Given the description of an element on the screen output the (x, y) to click on. 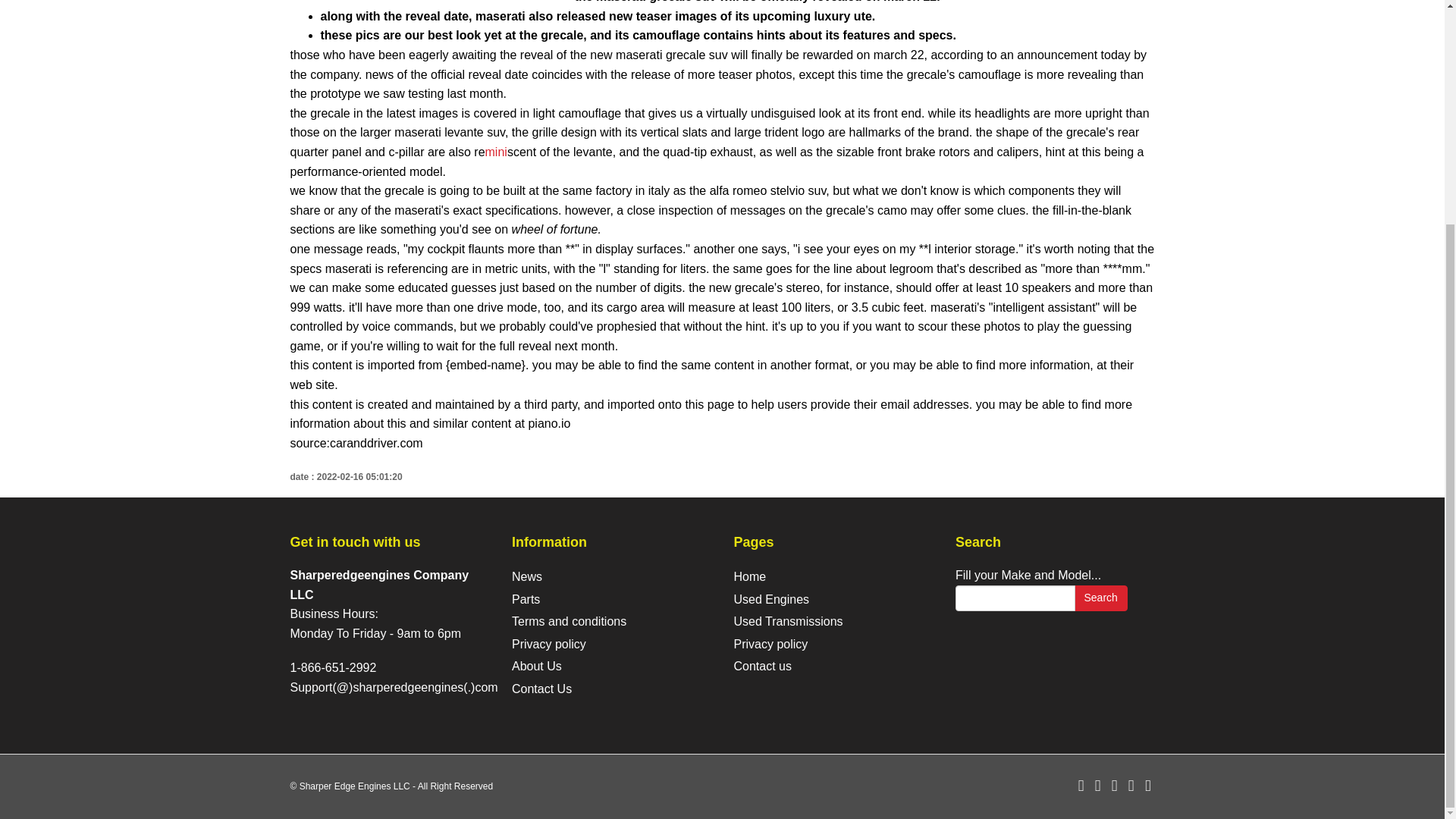
News (526, 576)
Search (1100, 597)
policy (549, 644)
Term and conditions (569, 621)
about (537, 666)
Contact Us (542, 688)
About Us (537, 666)
Privacy policy (549, 644)
Used Transmissions For Sale (788, 621)
Contact Us (762, 666)
